Given the description of an element on the screen output the (x, y) to click on. 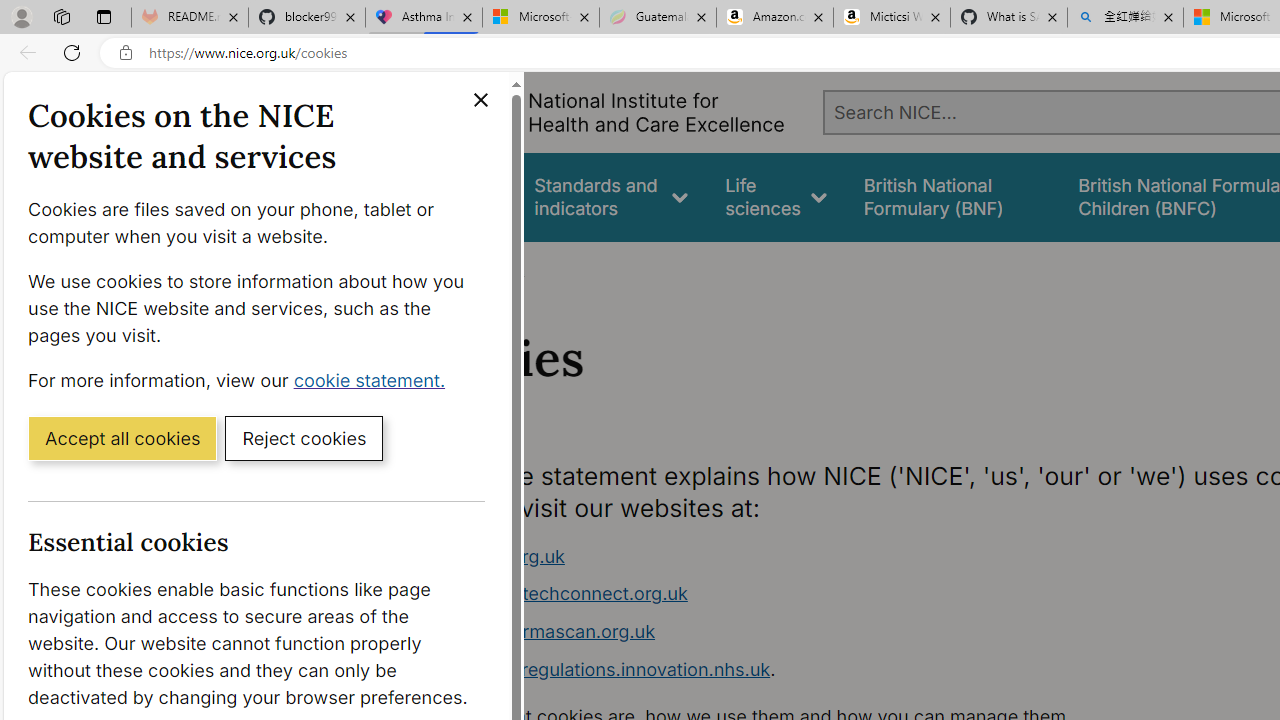
Close cookie banner (480, 99)
Home> (433, 268)
Accept all cookies (122, 437)
About (498, 268)
www.digitalregulations.innovation.nhs.uk (595, 668)
Guidance (458, 196)
www.healthtechconnect.org.uk (796, 594)
Life sciences (776, 196)
